Given the description of an element on the screen output the (x, y) to click on. 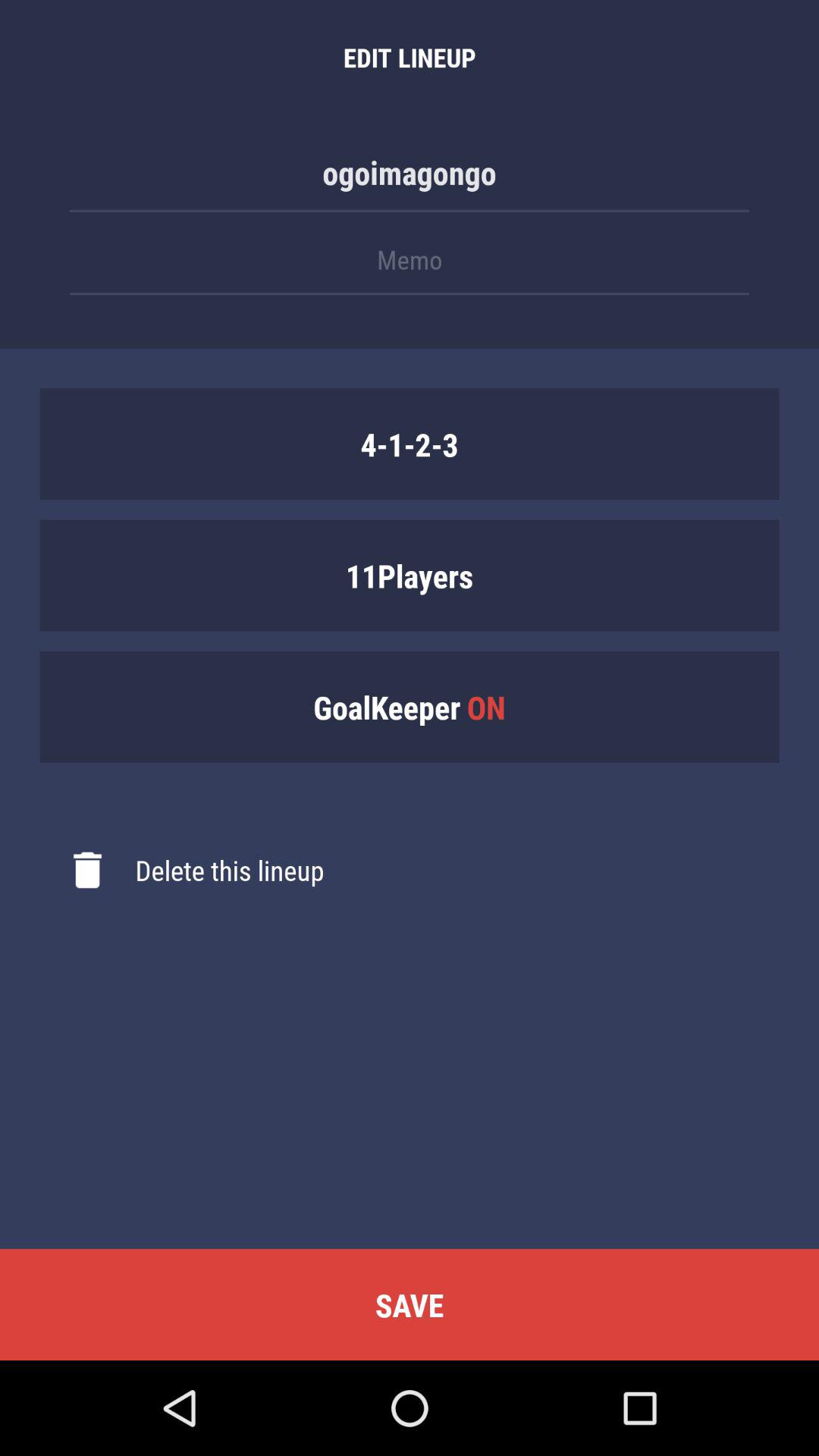
choose the icon below the edit lineup (409, 179)
